Given the description of an element on the screen output the (x, y) to click on. 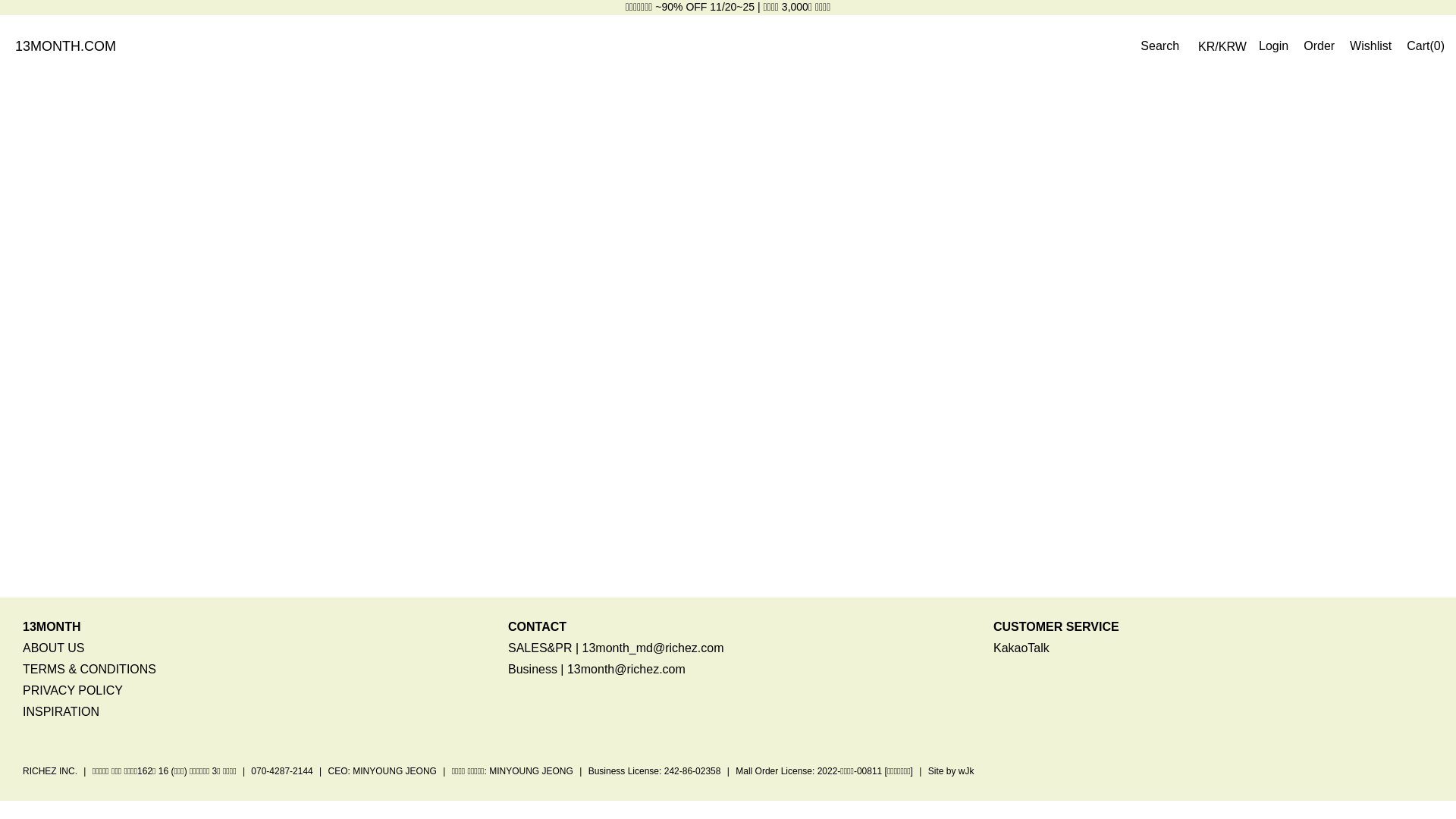
TERMS & CONDITIONS Element type: text (89, 668)
Cart(0) Element type: text (1425, 45)
13month_md@richez.com Element type: text (653, 647)
13MONTH Element type: text (51, 626)
KR/KRW Element type: text (1222, 46)
13MONTH.COM Element type: text (65, 45)
Order Element type: text (1318, 45)
wJk Element type: text (966, 770)
Login Element type: text (1273, 45)
Wishlist Element type: text (1370, 45)
PRIVACY POLICY Element type: text (72, 690)
INSPIRATION Element type: text (60, 711)
KakaoTalk Element type: text (1021, 647)
13month@richez.com Element type: text (626, 668)
ABOUT US Element type: text (53, 647)
Search Element type: text (1159, 45)
